Given the description of an element on the screen output the (x, y) to click on. 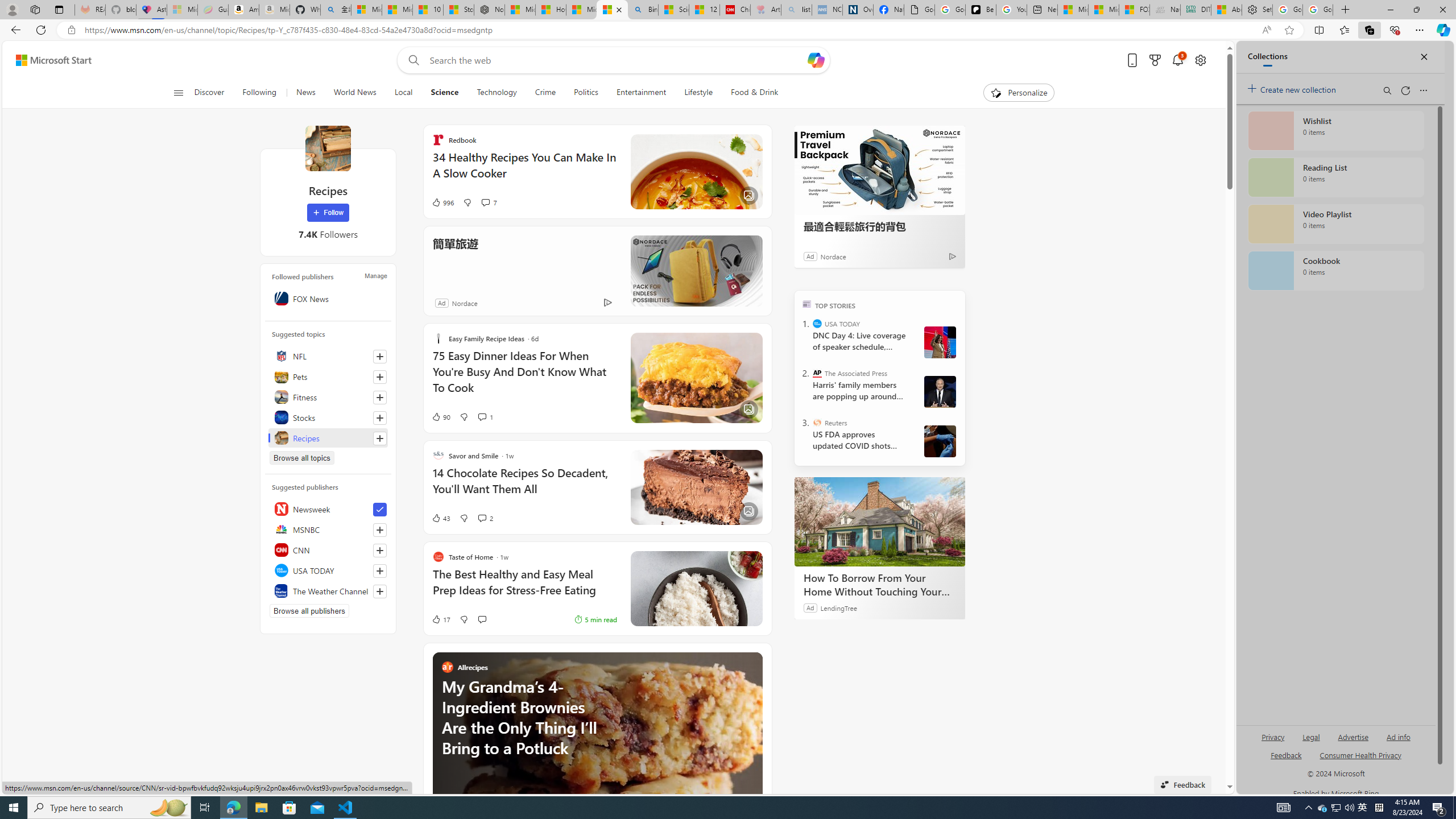
FOX News - MSN (1133, 9)
Follow this source (379, 591)
NFL (327, 356)
